Given the description of an element on the screen output the (x, y) to click on. 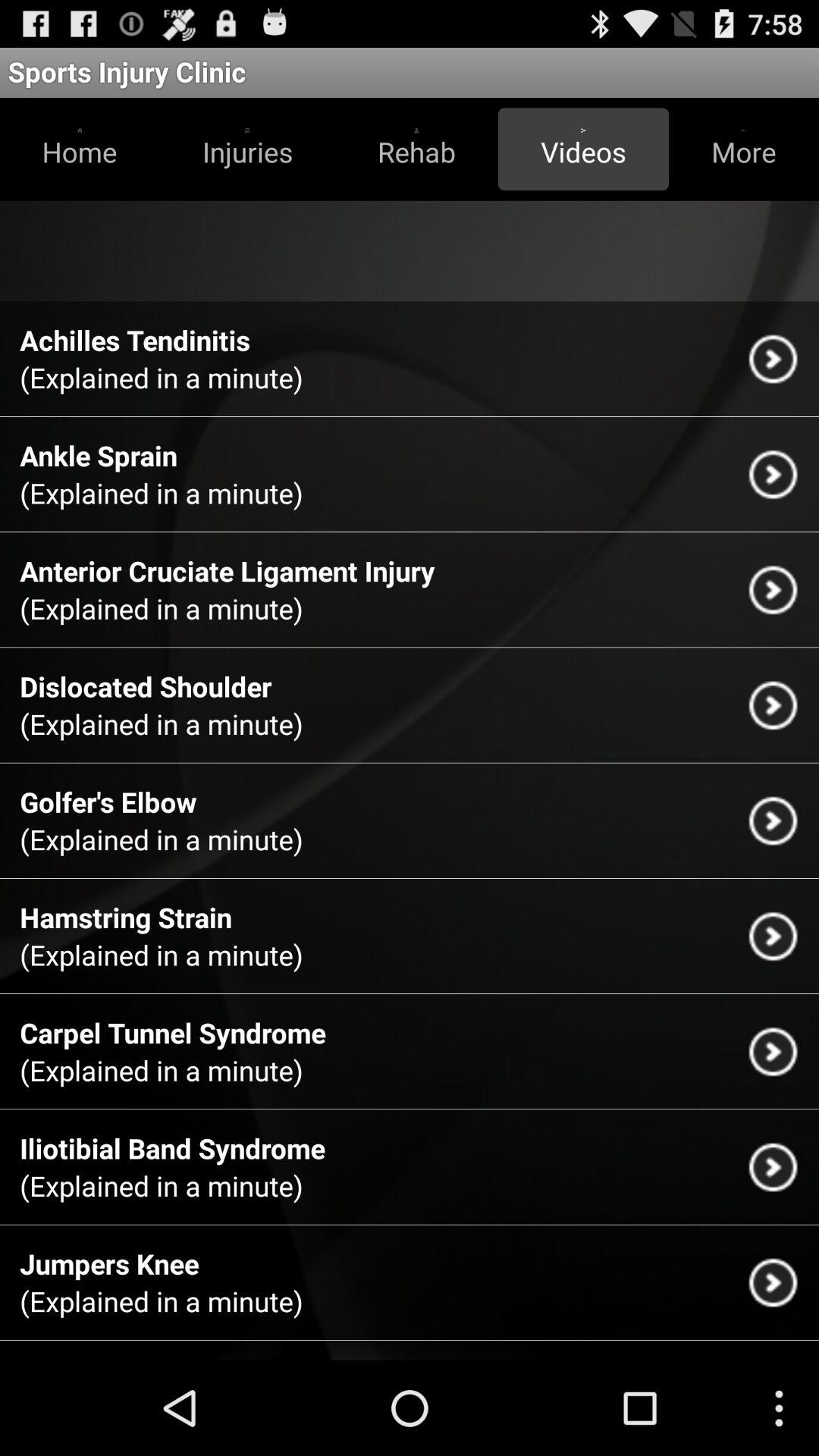
open the item below the explained in a icon (98, 455)
